Given the description of an element on the screen output the (x, y) to click on. 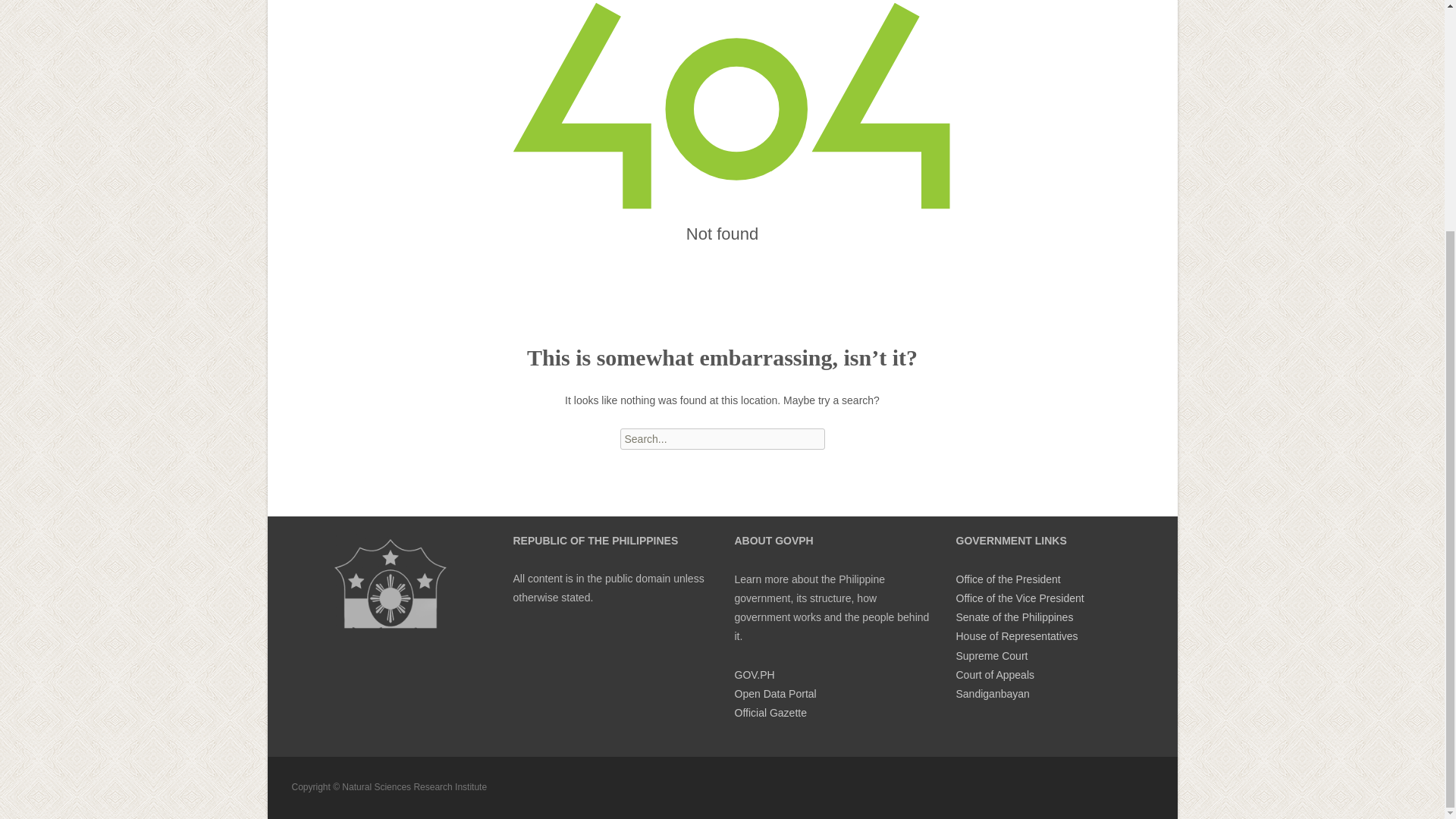
Senate of the Philippines (1014, 616)
Office of the President (1007, 579)
Office of the Vice President (1019, 598)
Official Gazette (769, 712)
Sandiganbayan (992, 693)
House of Representatives (1016, 635)
Search for: (722, 438)
Open Data Portal (774, 693)
Court of Appeals (994, 674)
Supreme Court (991, 655)
